Given the description of an element on the screen output the (x, y) to click on. 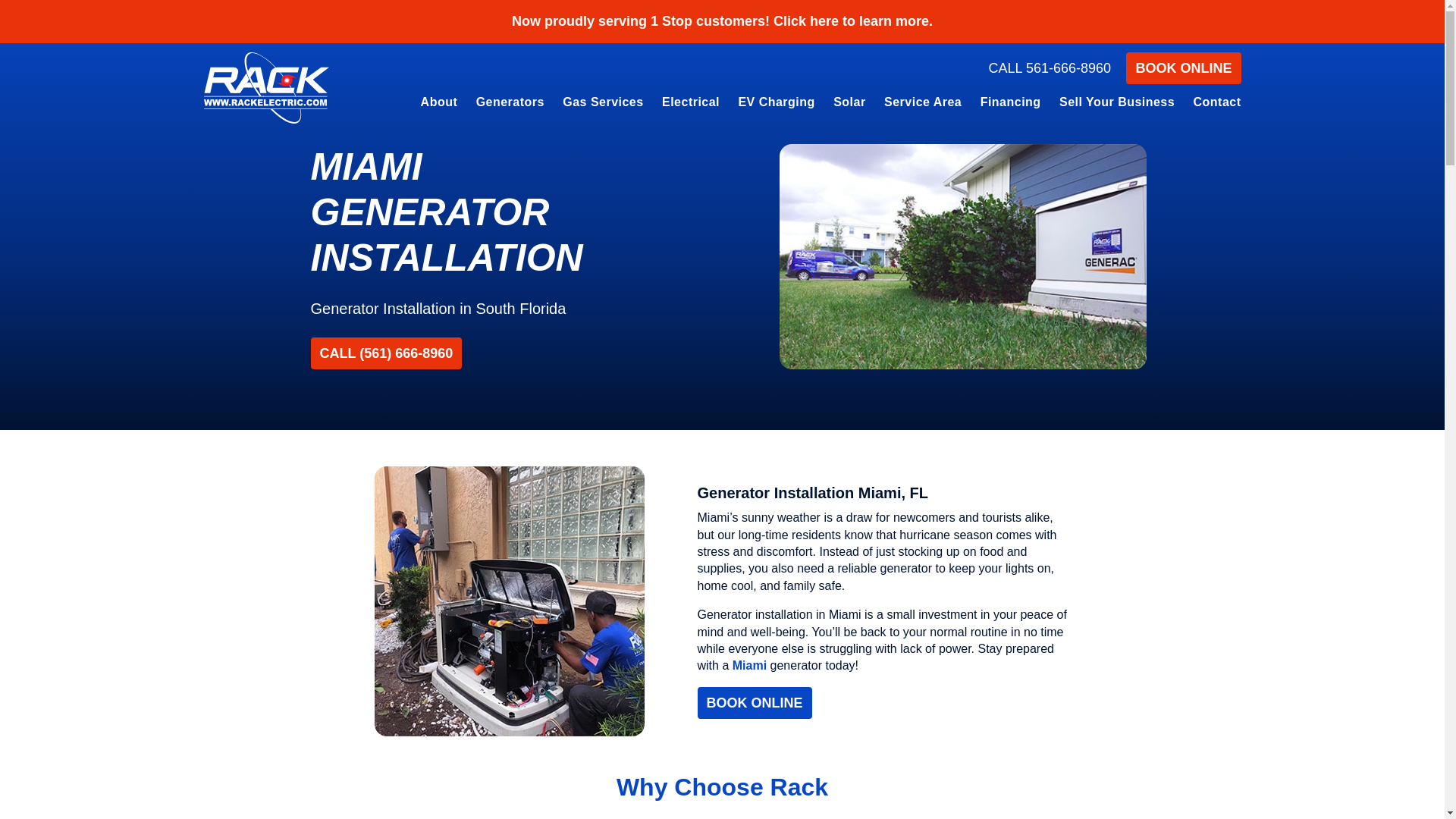
About (439, 105)
CALL 561-666-8960 (1049, 68)
Gas Services (602, 105)
EV Charging (775, 105)
Service Area (922, 105)
Solar (849, 105)
Generators (510, 105)
Electrical (690, 105)
BOOK ONLINE (1182, 68)
